Given the description of an element on the screen output the (x, y) to click on. 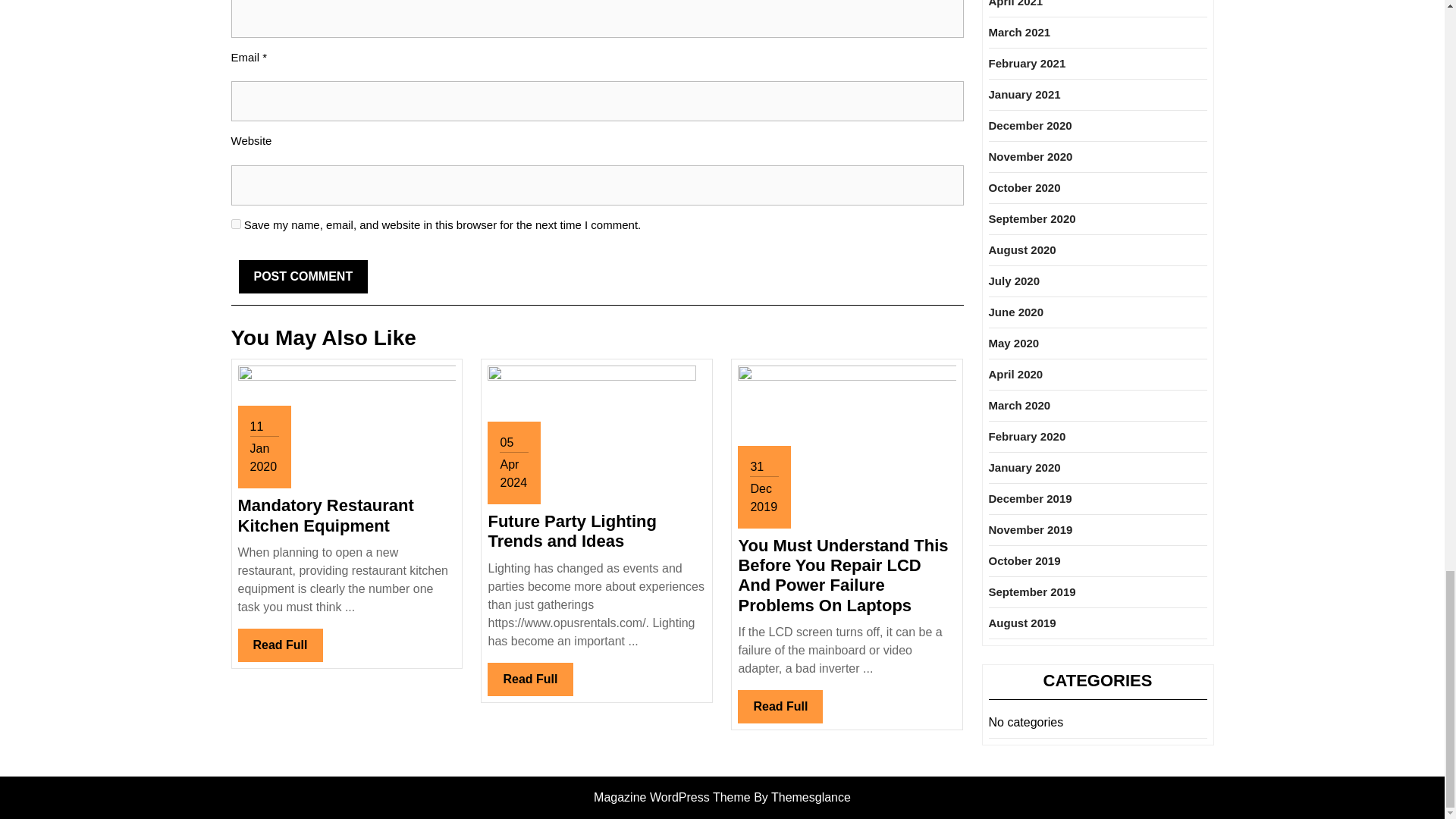
yes (235, 224)
Post Comment (780, 706)
Post Comment (303, 276)
